Given the description of an element on the screen output the (x, y) to click on. 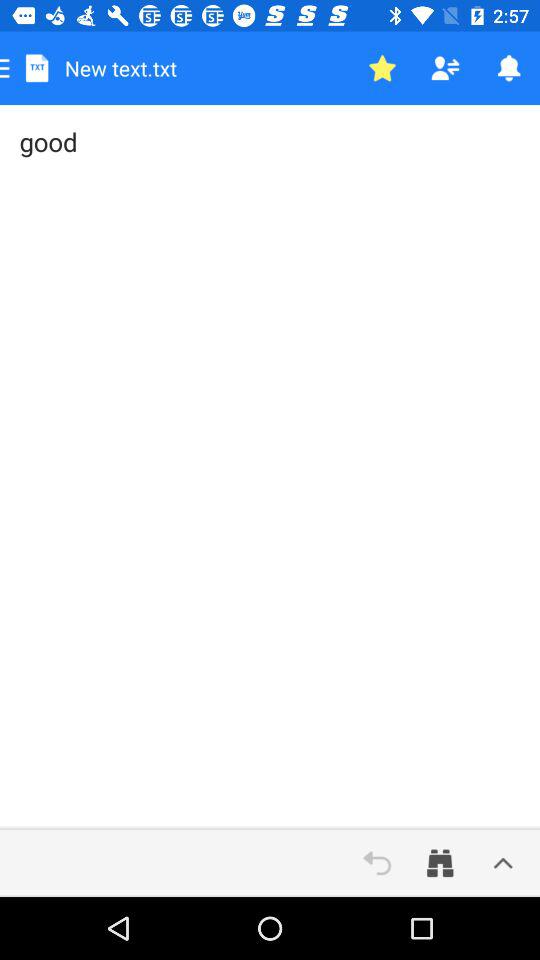
go up (503, 863)
